Given the description of an element on the screen output the (x, y) to click on. 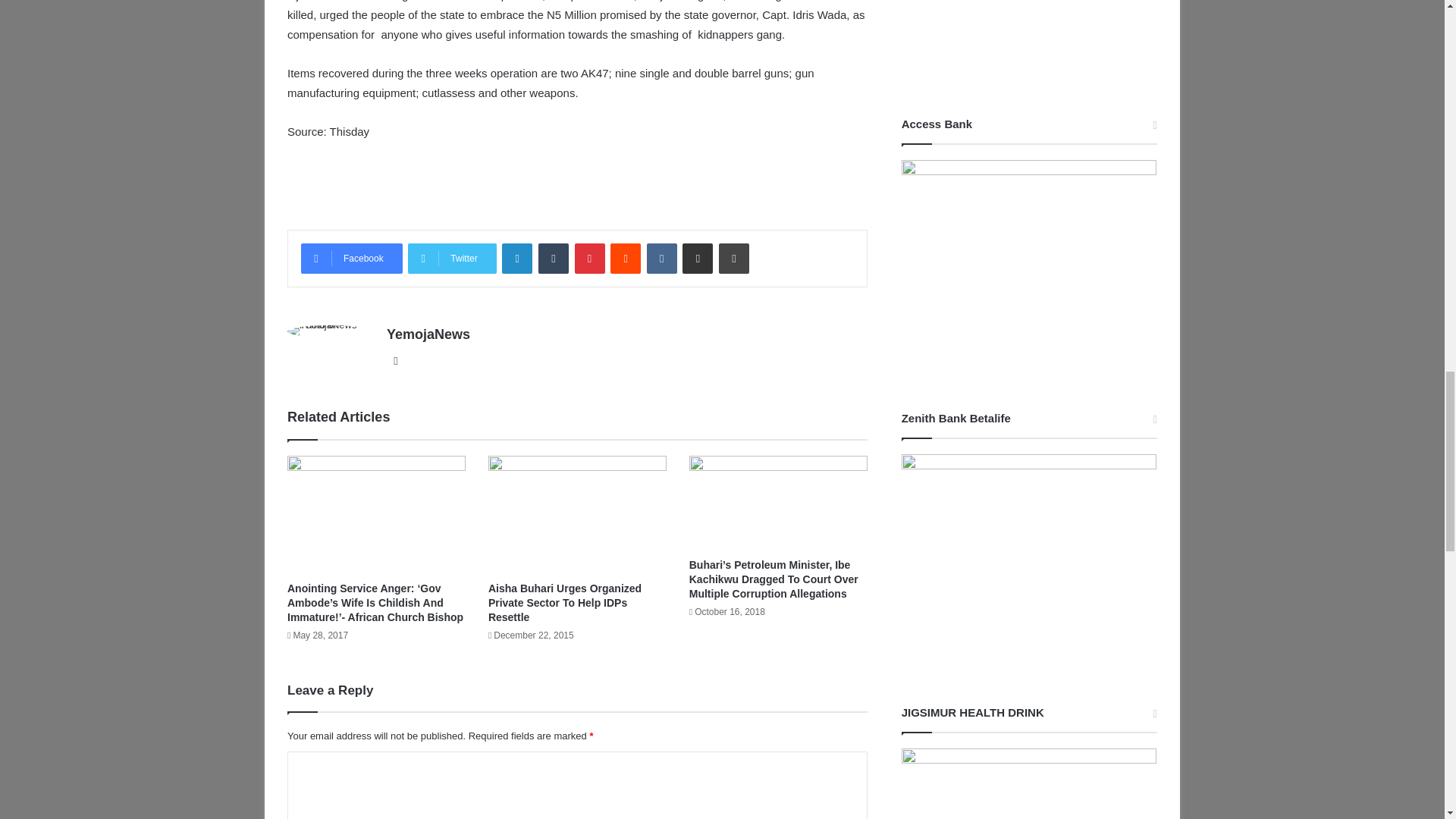
Twitter (451, 258)
Tumblr (553, 258)
Pinterest (590, 258)
Facebook (352, 258)
Twitter (451, 258)
LinkedIn (517, 258)
Facebook (352, 258)
